Given the description of an element on the screen output the (x, y) to click on. 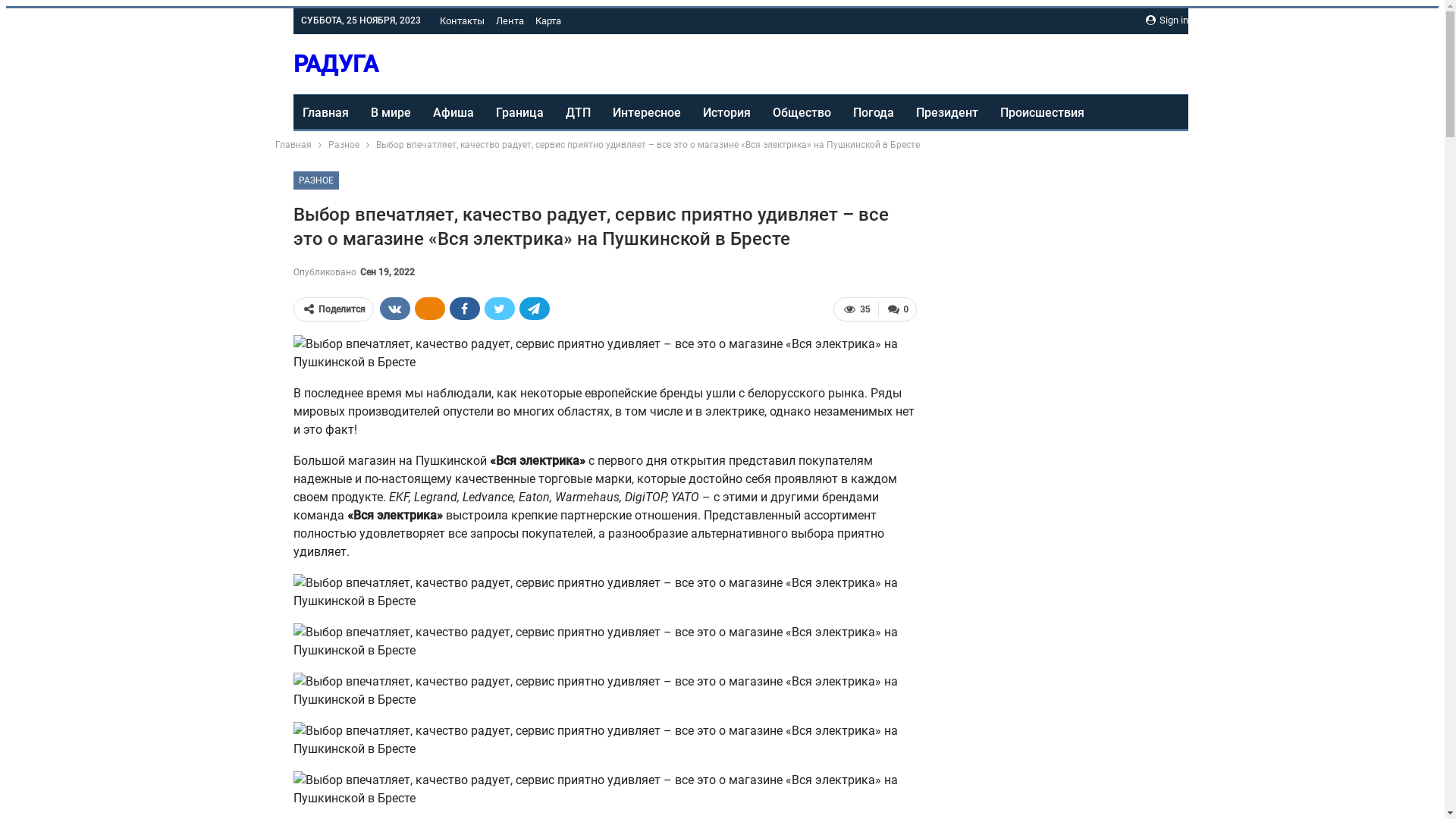
Sign in Element type: text (1166, 20)
0 Element type: text (897, 309)
